Given the description of an element on the screen output the (x, y) to click on. 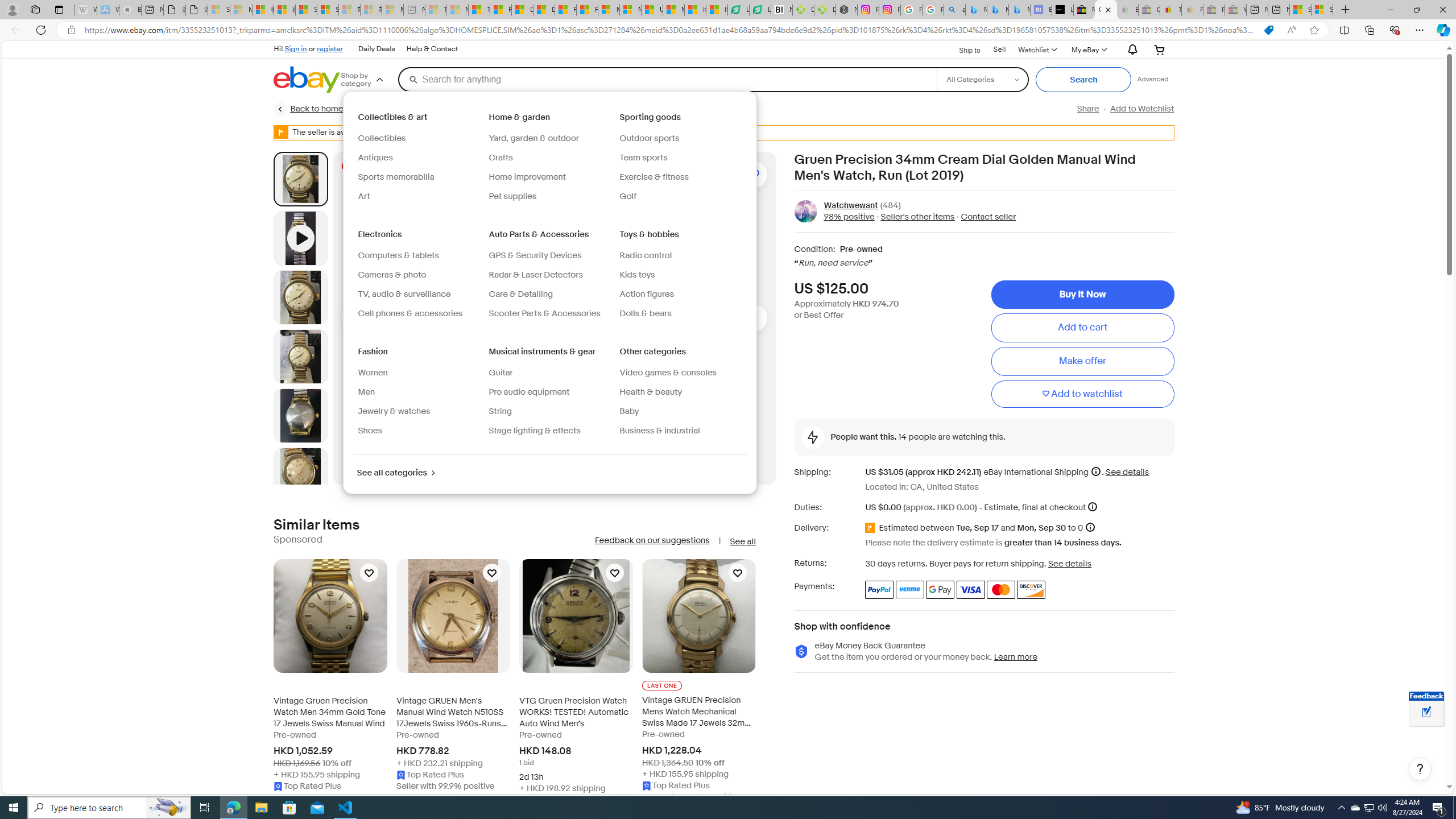
Help, opens dialogs (1420, 768)
Picture 1 of 13 (300, 178)
Fashion (374, 351)
Exercise & fitness (654, 176)
Shanghai, China hourly forecast | Microsoft Weather (1300, 9)
Press Room - eBay Inc. - Sleeping (1214, 9)
Cameras & photo (418, 275)
Women (373, 372)
Food and Drink - MSN (500, 9)
